Given the description of an element on the screen output the (x, y) to click on. 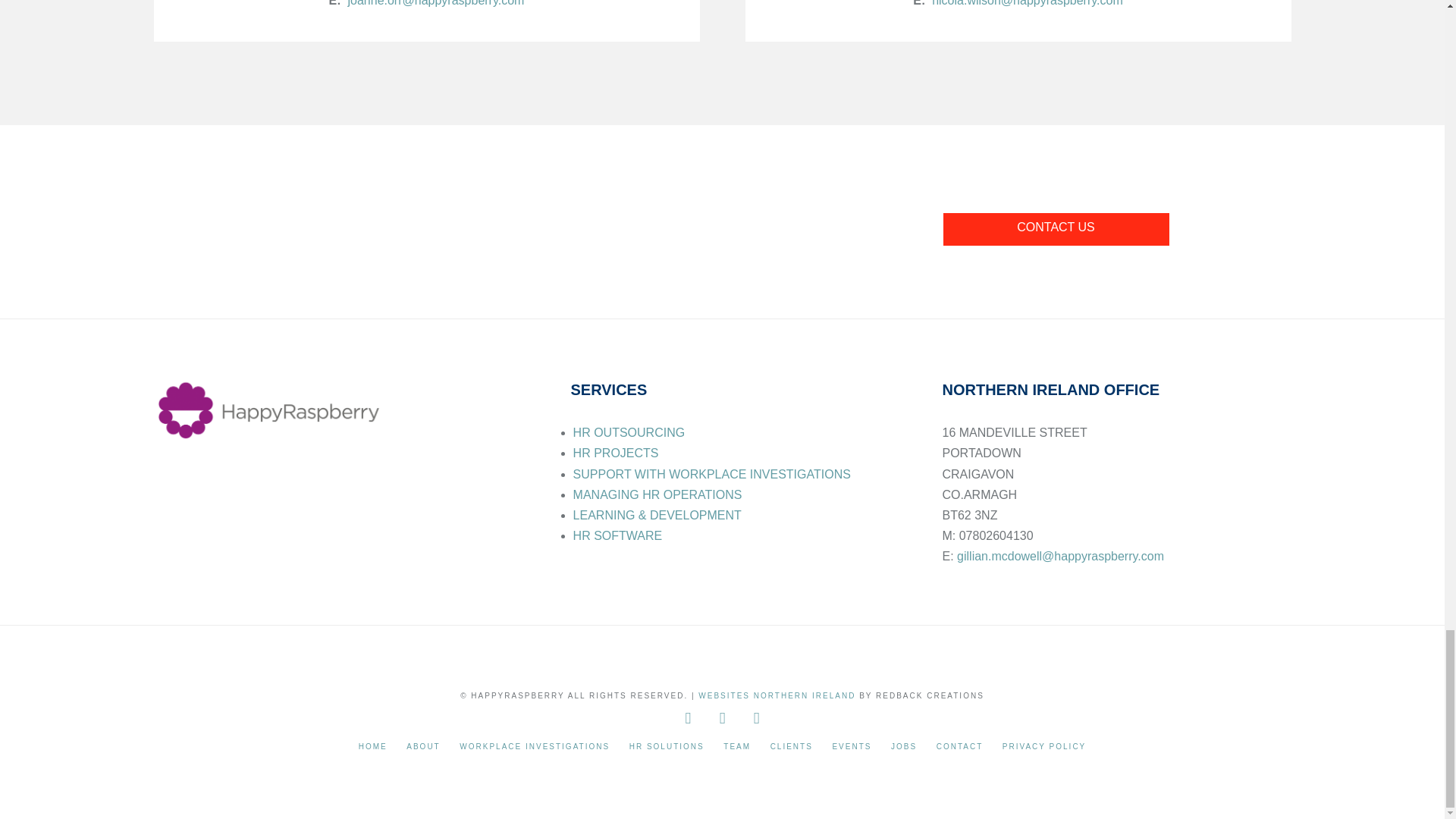
CONTACT US (1055, 229)
HR OUTSOURCING (629, 431)
